Given the description of an element on the screen output the (x, y) to click on. 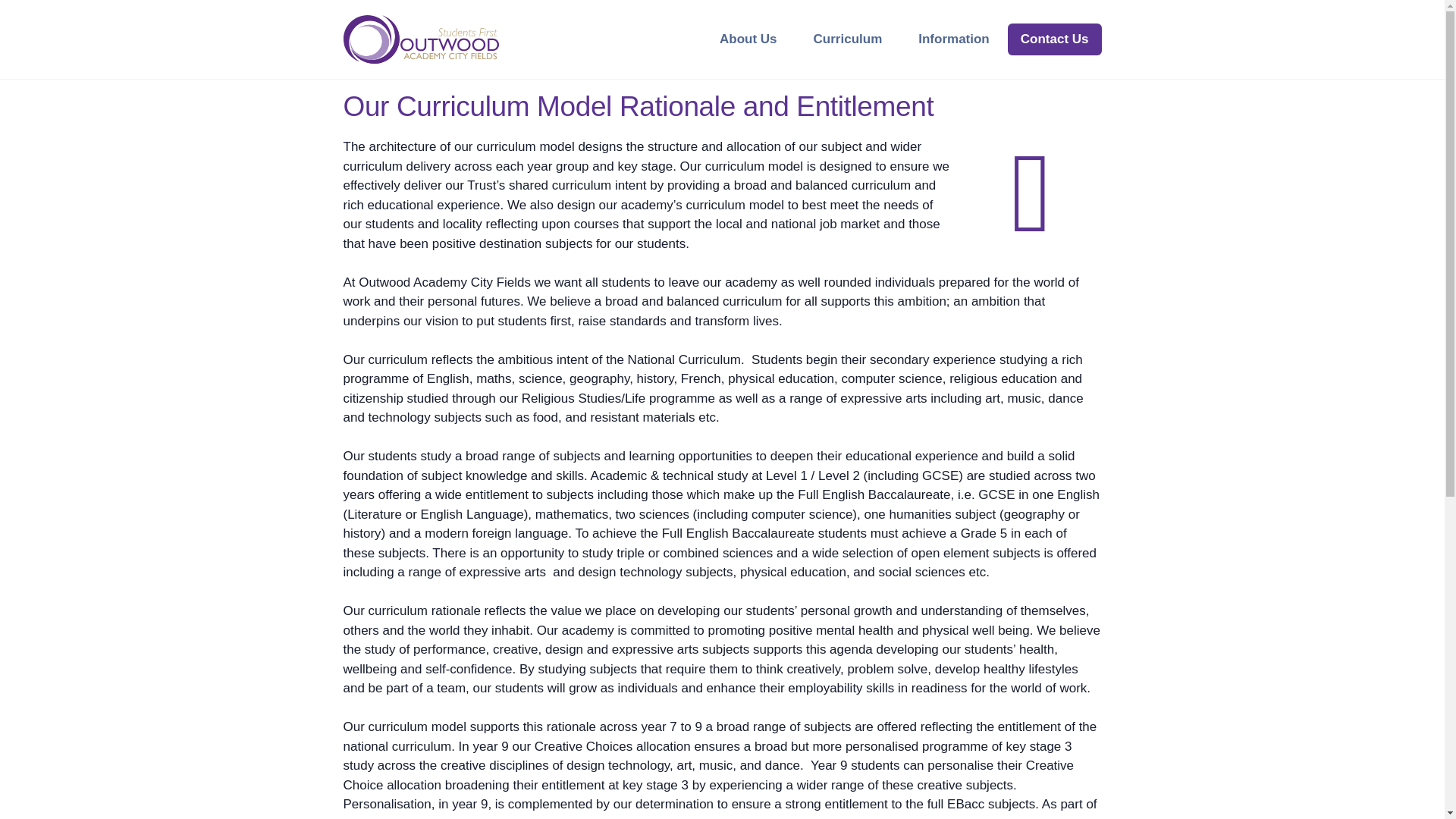
About Us (747, 38)
Information (953, 38)
Curriculum (847, 38)
